Given the description of an element on the screen output the (x, y) to click on. 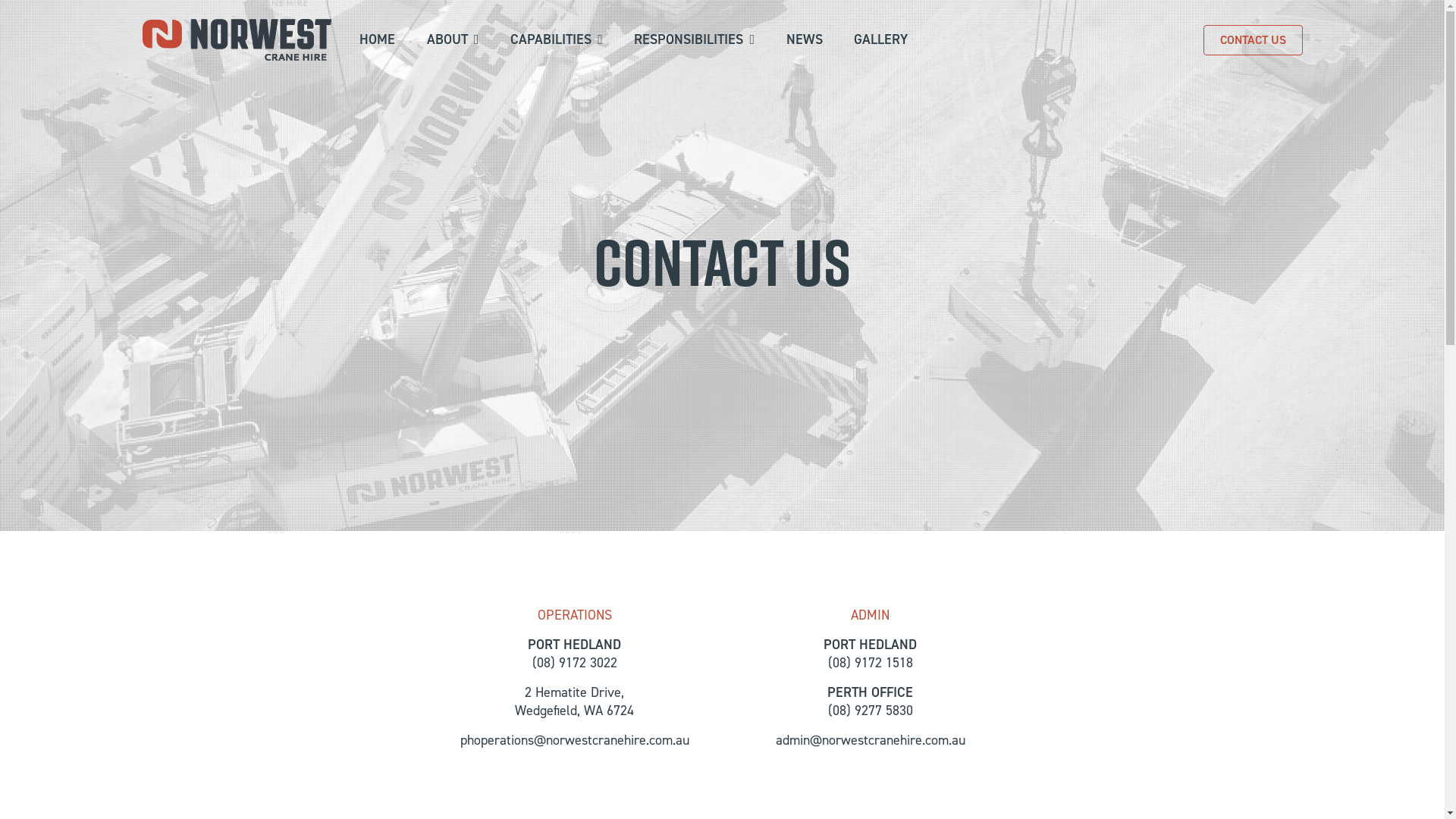
GALLERY Element type: text (880, 39)
phoperations@norwestcranehire.com.au Element type: text (573, 740)
(08) 9172 3022 Element type: text (574, 662)
(08) 9277 5830 Element type: text (870, 710)
CONTACT US Element type: text (1252, 39)
admin@norwestcranehire.com.au Element type: text (869, 740)
CAPABILITIES Element type: text (556, 39)
HOME Element type: text (377, 39)
NEWS Element type: text (804, 39)
RESPONSIBILITIES Element type: text (694, 39)
(08) 9172 1518 Element type: text (870, 662)
ABOUT Element type: text (452, 39)
